Given the description of an element on the screen output the (x, y) to click on. 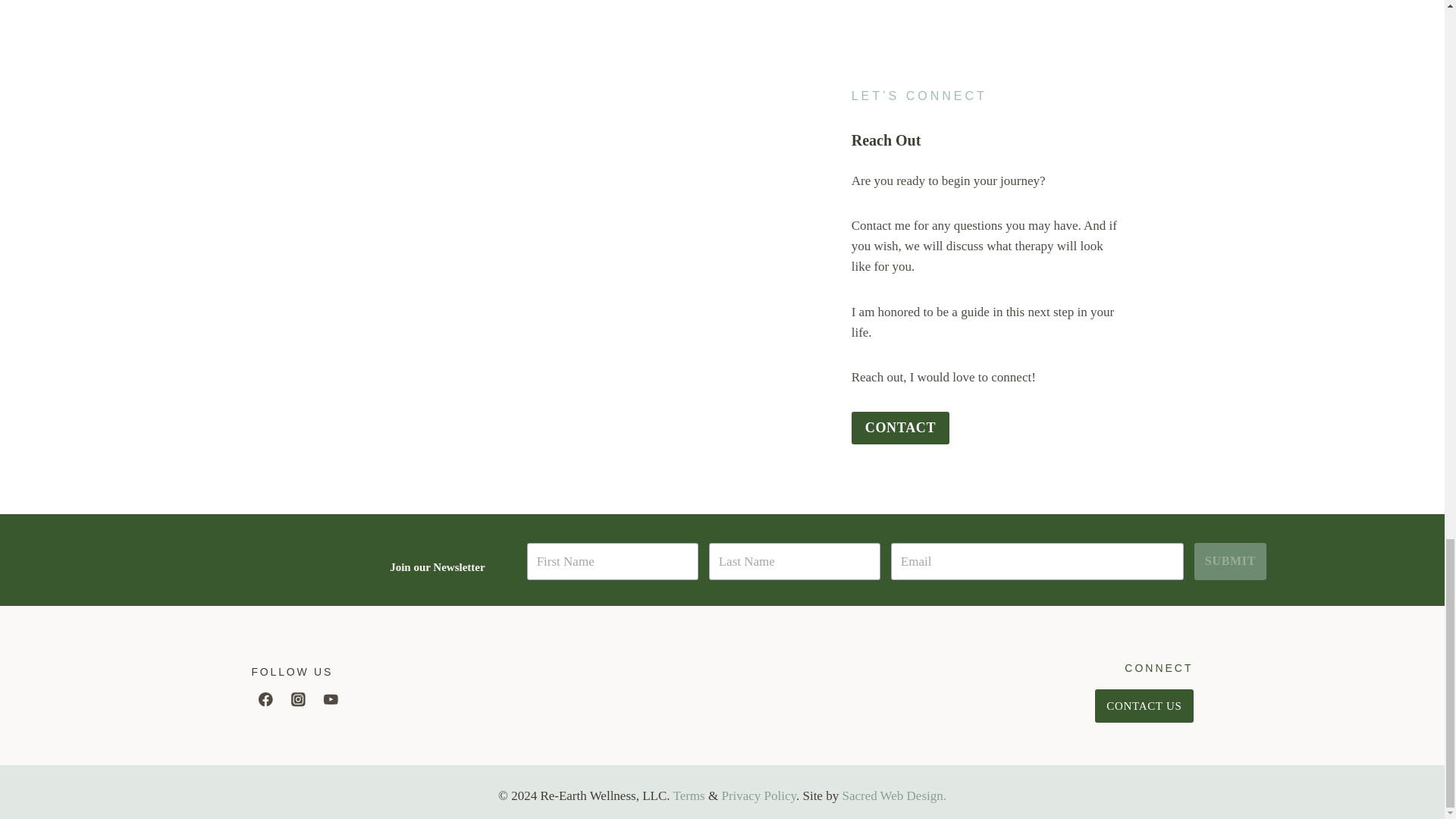
CONTACT (900, 427)
CONTACT US (1143, 705)
SUBMIT (1229, 560)
Terms (688, 795)
Privacy Policy (758, 795)
Sacred Web Design. (893, 795)
